Given the description of an element on the screen output the (x, y) to click on. 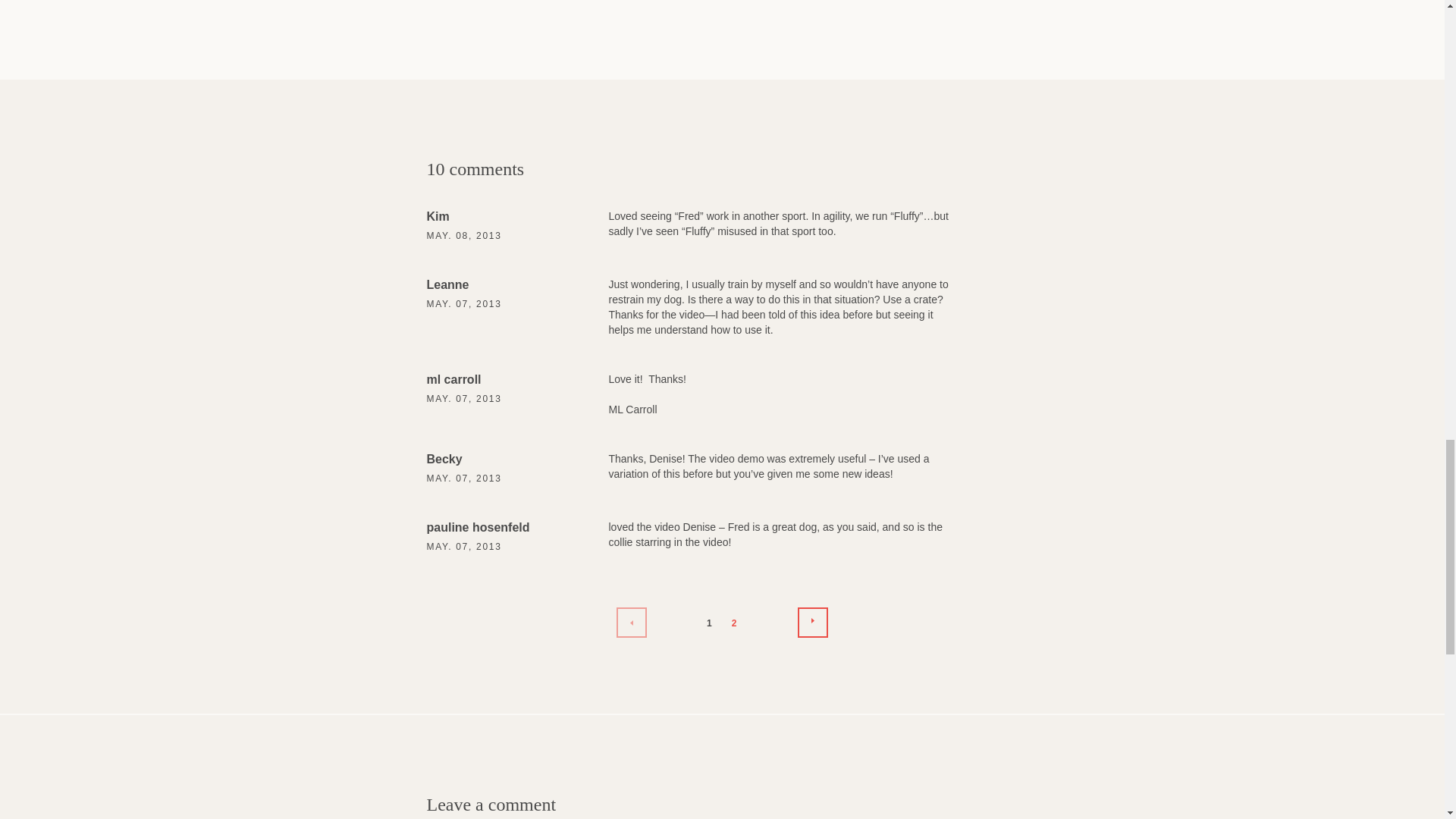
NEXT (812, 622)
PREVIOUS (630, 622)
